Given the description of an element on the screen output the (x, y) to click on. 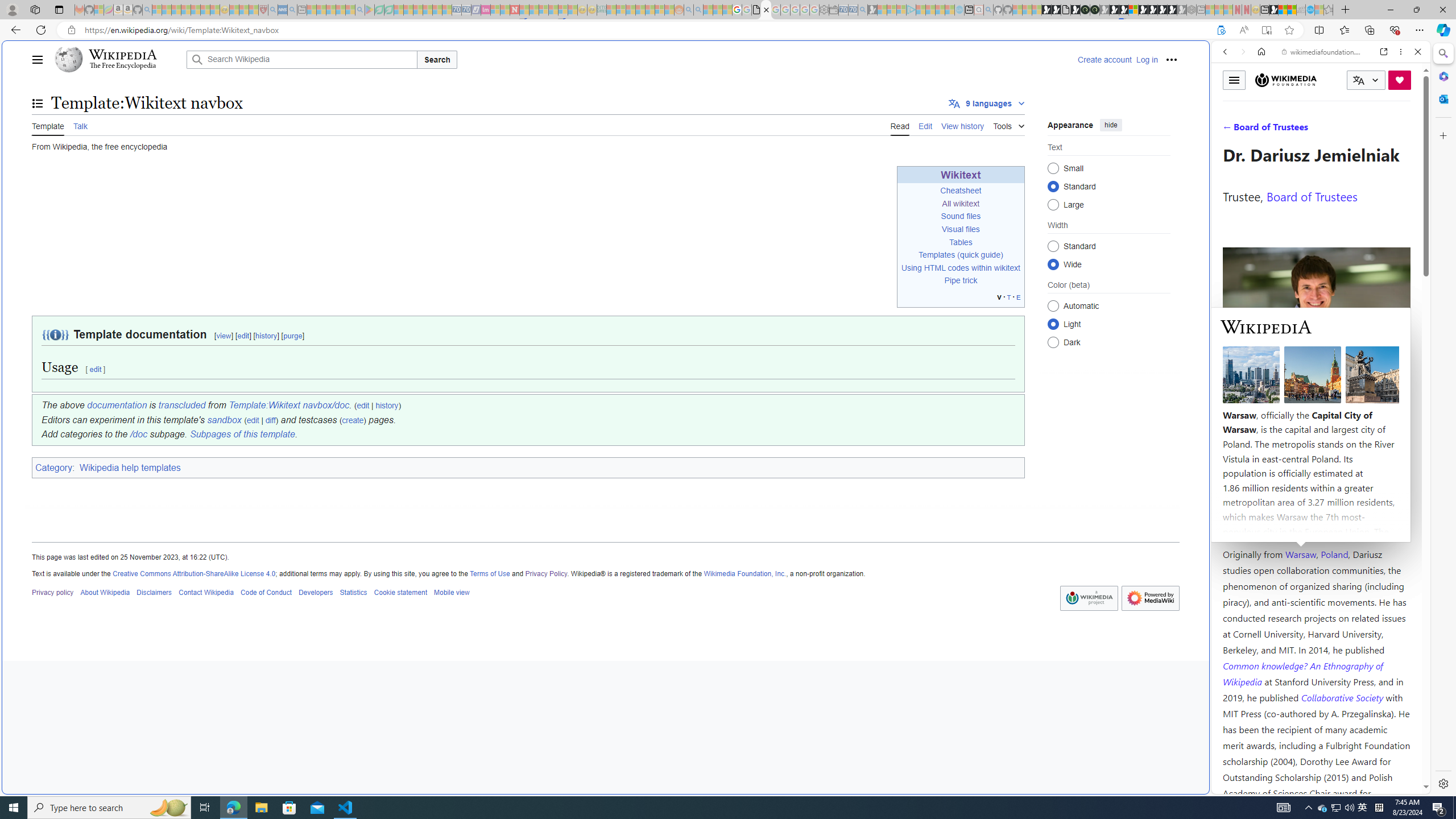
Pipe trick (960, 280)
Statistics (352, 592)
Powered by MediaWiki (1150, 597)
e (1018, 297)
All wikitext (960, 203)
Toggle the table of contents (37, 103)
Class: mw-list-item mw-list-item-js (1109, 323)
